Given the description of an element on the screen output the (x, y) to click on. 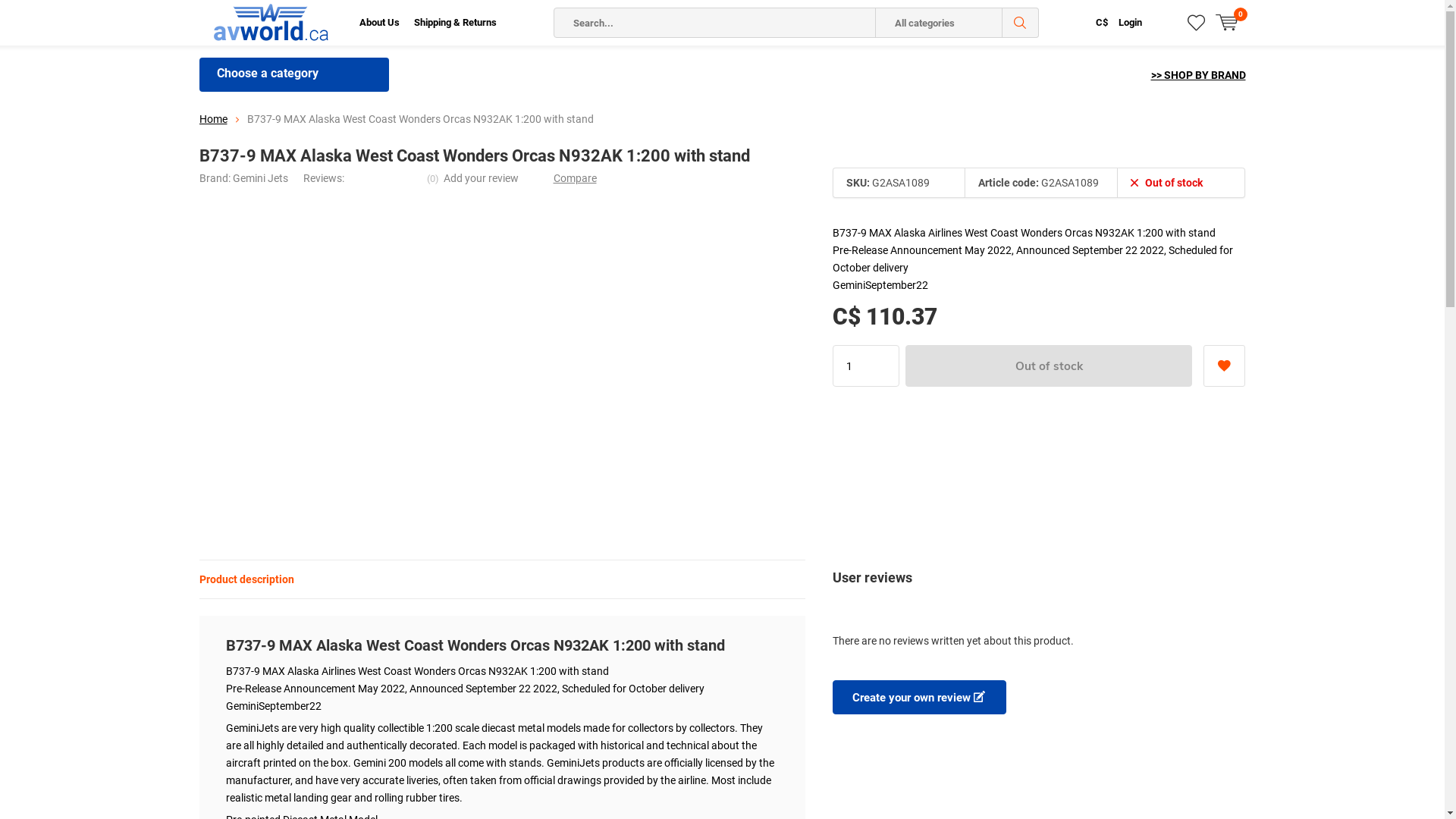
>> SHOP BY BRAND Element type: text (1198, 75)
C$ Element type: text (1101, 22)
Shipping & Returns Element type: text (455, 22)
0 Element type: text (1229, 22)
Add to wishlist Element type: text (1224, 365)
Create your own review Element type: text (919, 697)
Gemini Jets Element type: text (259, 178)
About Us Element type: text (379, 22)
Login Element type: text (1129, 22)
Out of stock Element type: text (1048, 365)
Search Element type: text (1020, 22)
Product description Element type: text (245, 579)
Choose a category Element type: text (293, 74)
Home Element type: text (212, 118)
Add your review Element type: text (479, 178)
